Given the description of an element on the screen output the (x, y) to click on. 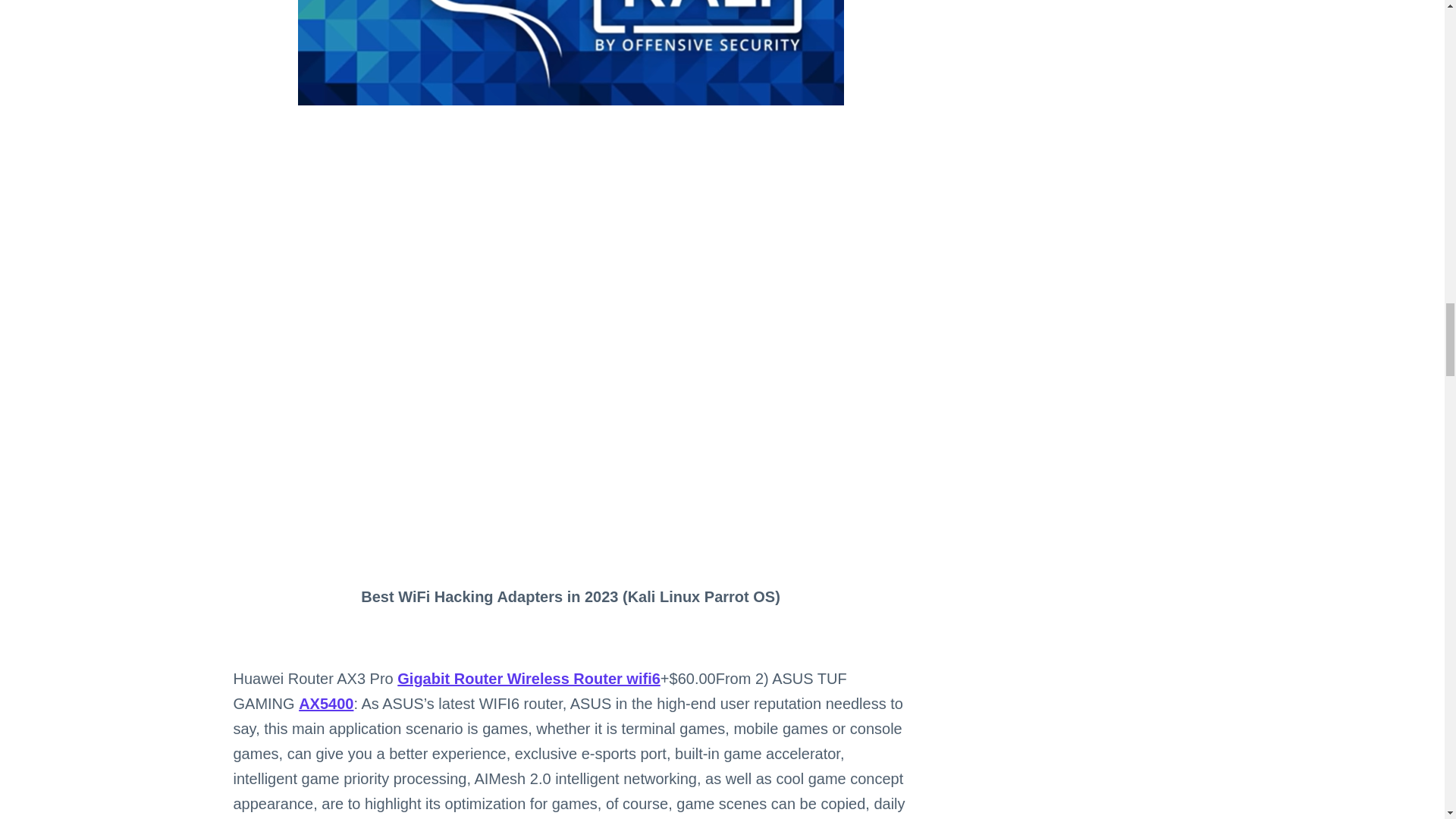
Gigabit Router Wireless Router wifi6 (529, 678)
